Given the description of an element on the screen output the (x, y) to click on. 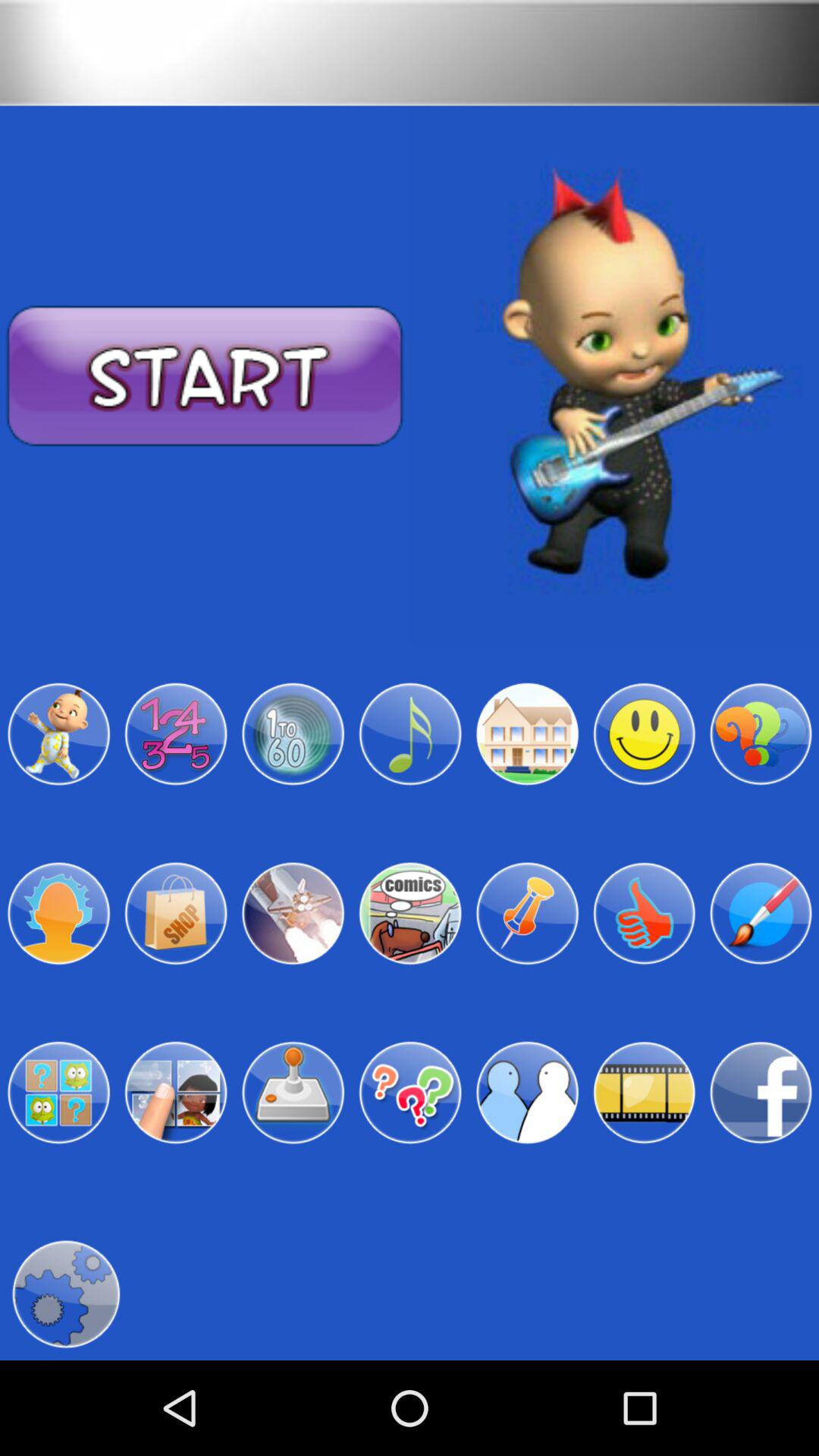
orange box flashing for selecting icon (760, 913)
